Given the description of an element on the screen output the (x, y) to click on. 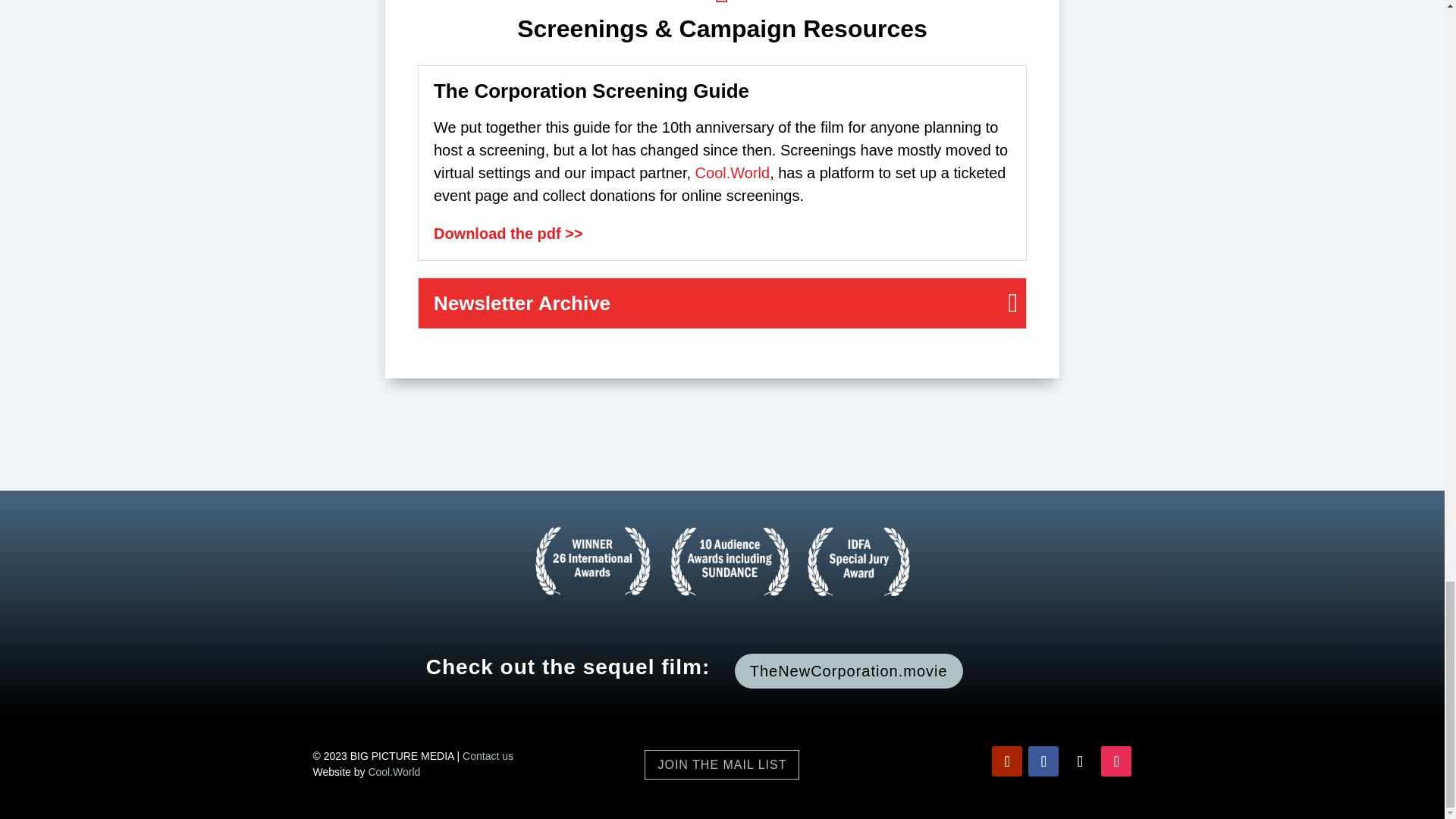
Follow on Youtube (1006, 761)
CorpLaurels (721, 560)
Cool.World (732, 172)
Follow on Facebook (1042, 761)
Follow on X (1079, 761)
Follow on Instagram (1115, 761)
